Given the description of an element on the screen output the (x, y) to click on. 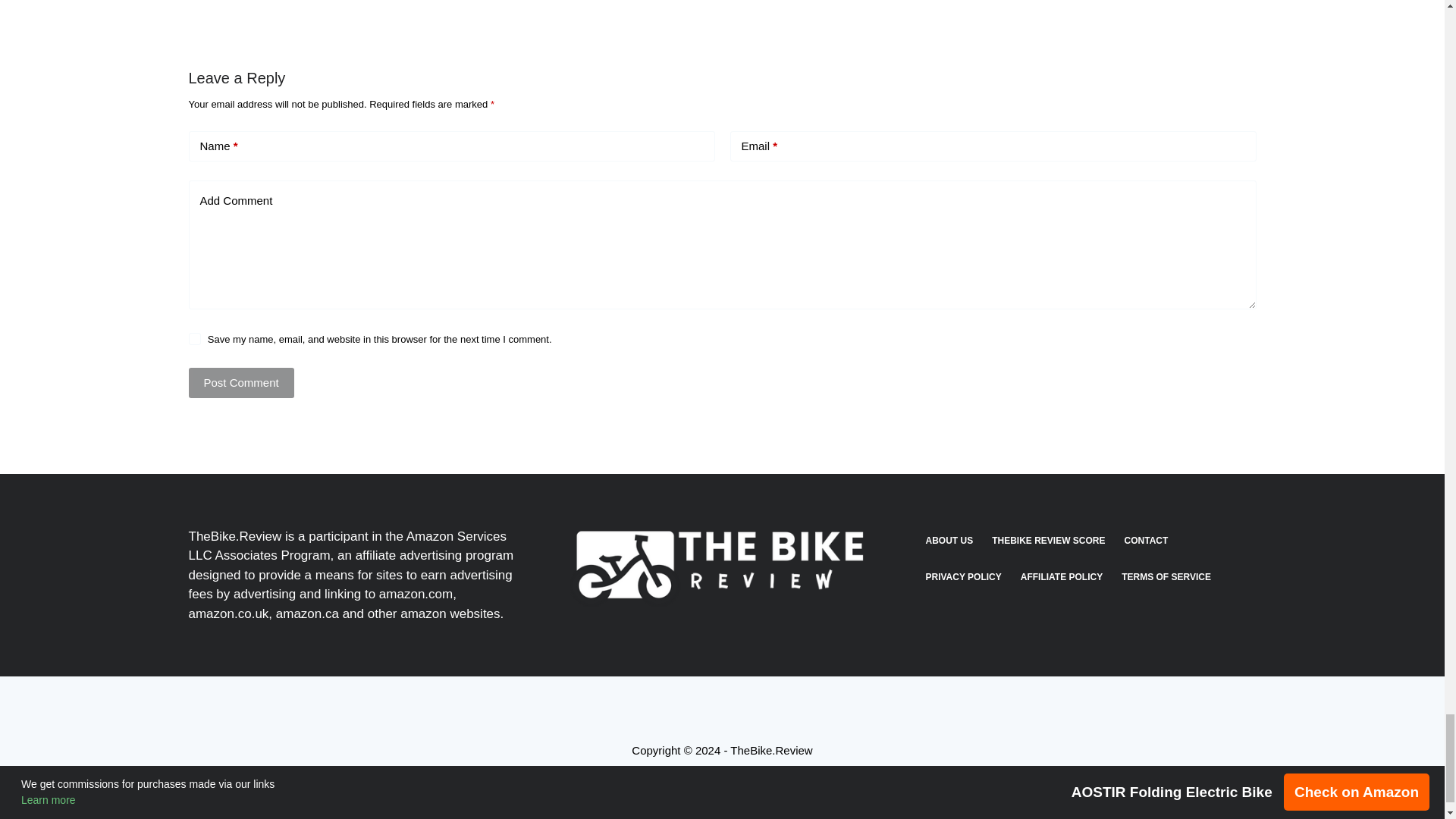
yes (193, 338)
